Given the description of an element on the screen output the (x, y) to click on. 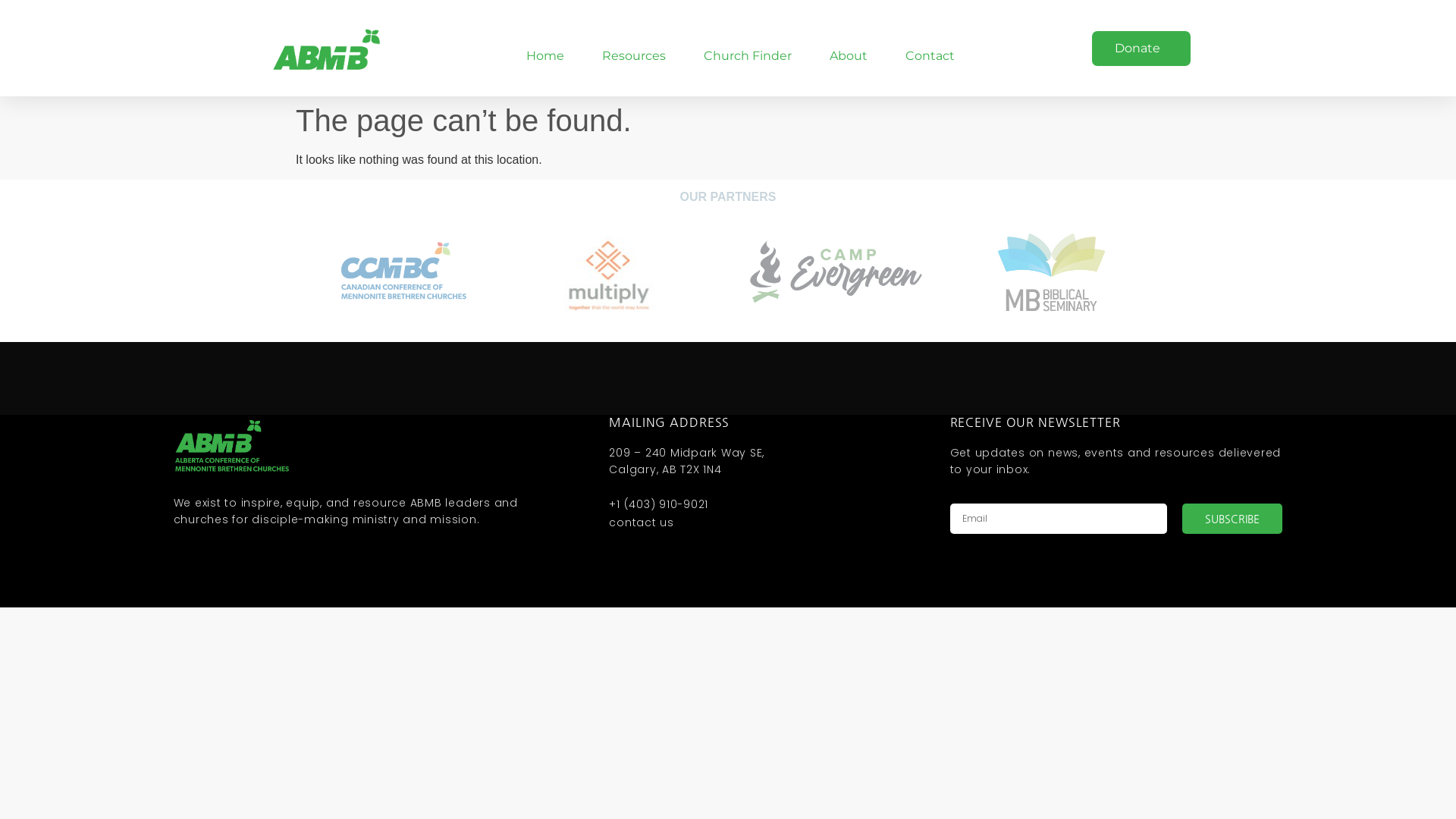
contact us Element type: text (751, 522)
Church Finder Element type: text (747, 55)
Resources Element type: text (633, 55)
About Element type: text (848, 55)
Donate Element type: text (1140, 48)
Home Element type: text (545, 55)
Contact Element type: text (929, 55)
SUBSCRIBE Element type: text (1232, 518)
